Given the description of an element on the screen output the (x, y) to click on. 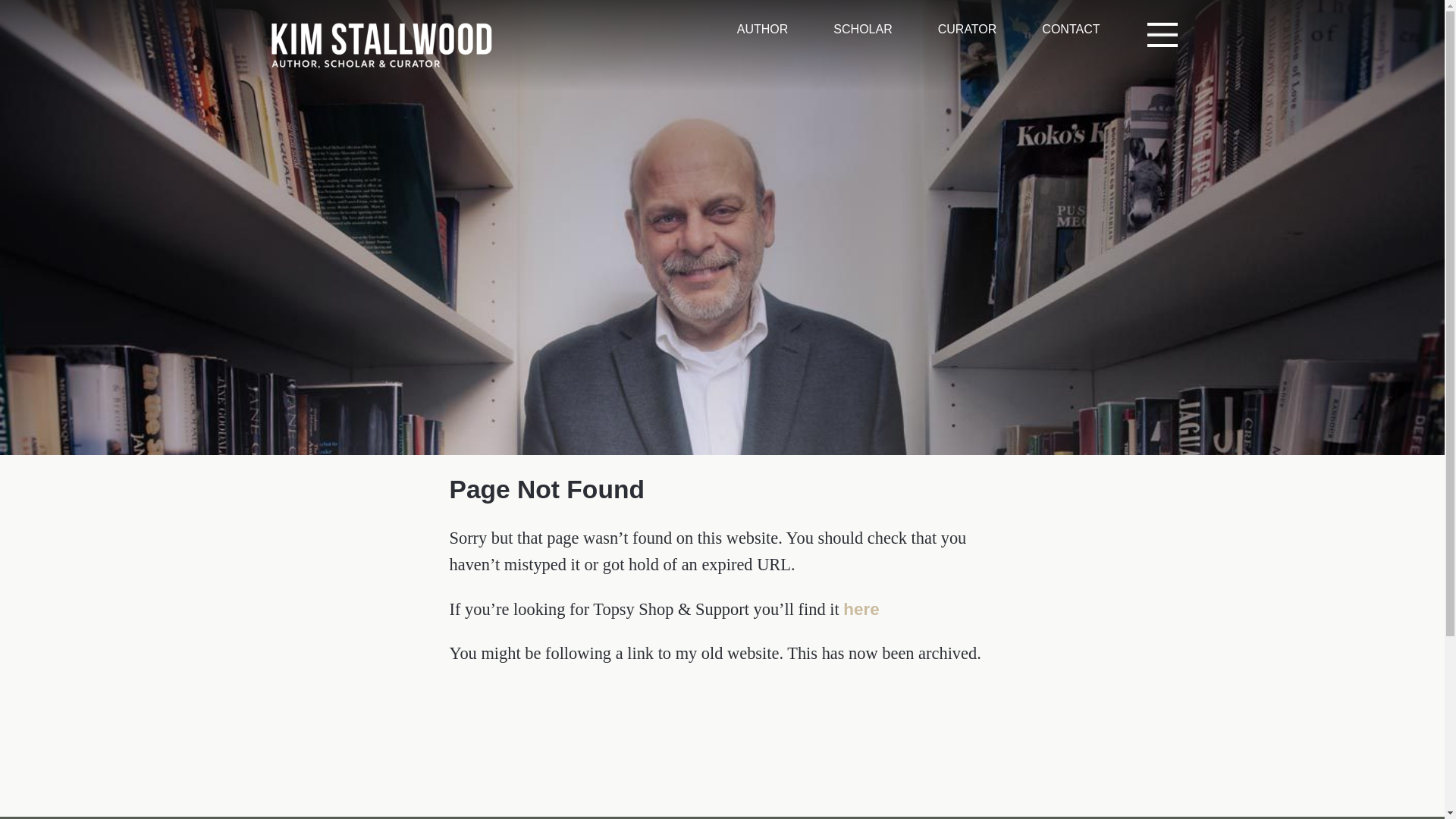
AUTHOR (762, 29)
CURATOR (967, 29)
CONTACT (1070, 29)
SCHOLAR (861, 29)
here (861, 609)
